Given the description of an element on the screen output the (x, y) to click on. 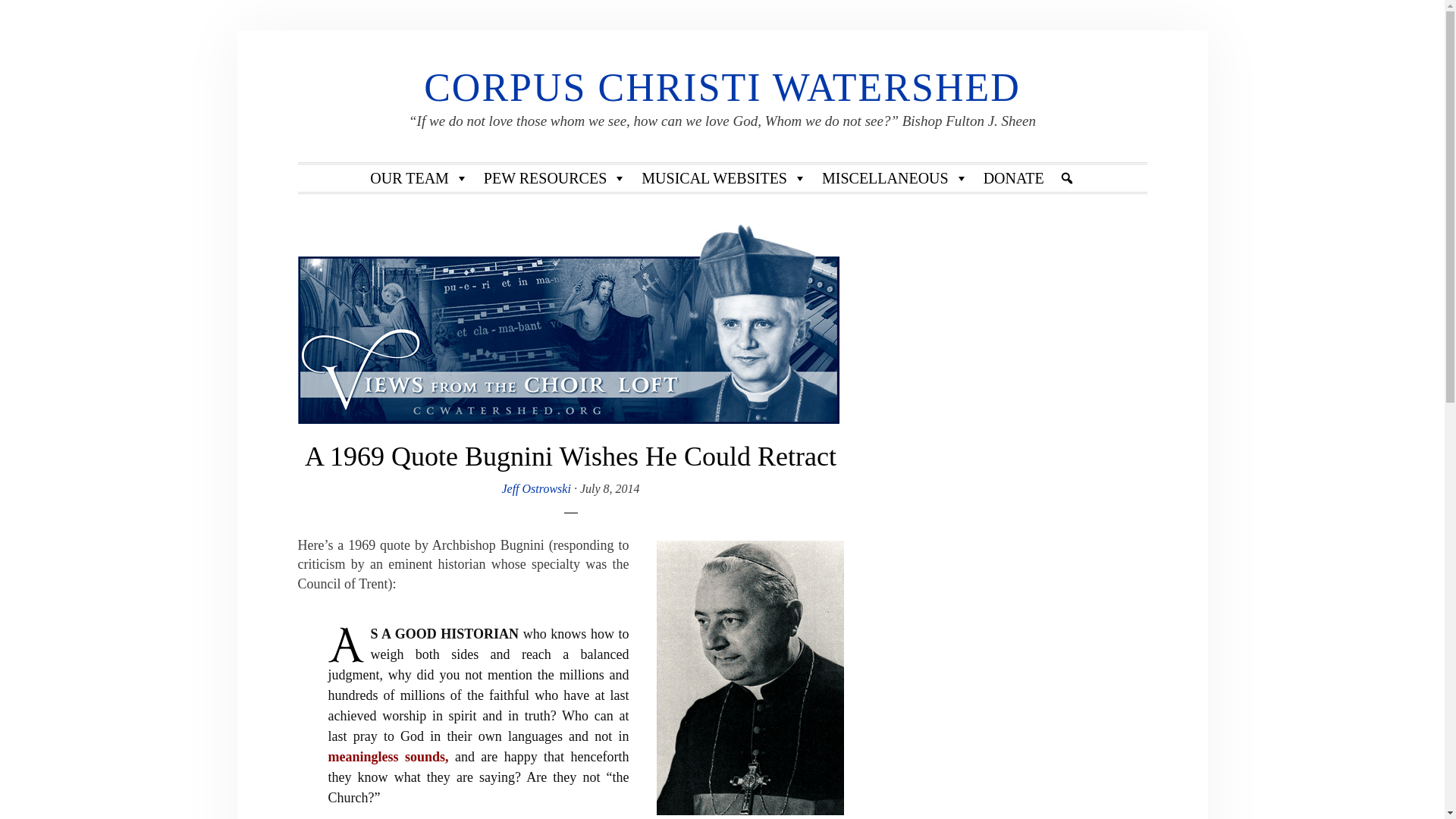
DONATE (1013, 177)
MISCELLANEOUS (894, 177)
CORPUS CHRISTI WATERSHED (721, 87)
PEW RESOURCES (554, 177)
Jeff Ostrowski (535, 488)
MUSICAL WEBSITES (723, 177)
OUR TEAM (419, 177)
